Given the description of an element on the screen output the (x, y) to click on. 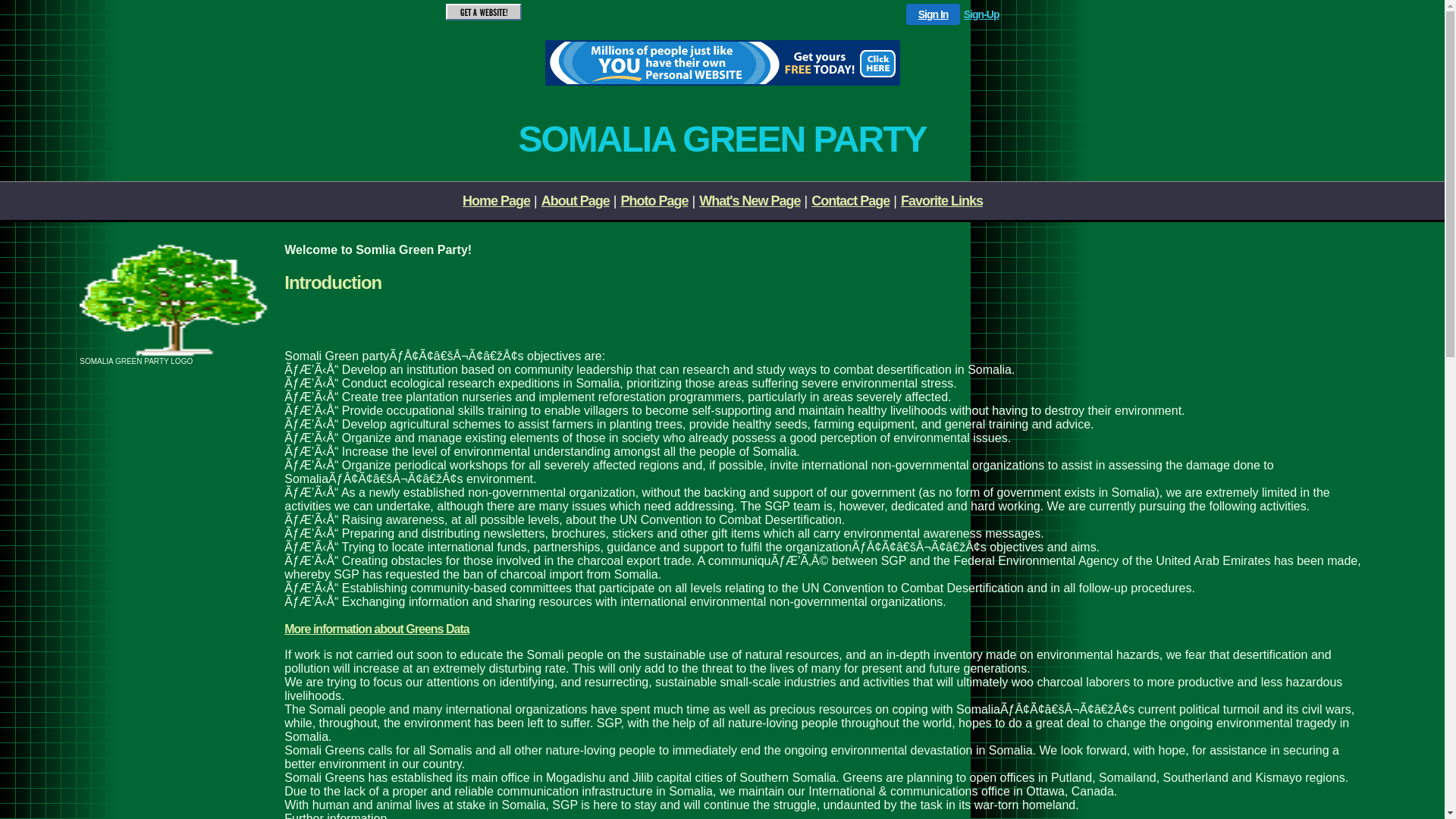
Home Page Element type: text (496, 199)
Sign-Up Element type: text (981, 14)
What's New Page Element type: text (749, 199)
Contact Page Element type: text (850, 199)
Favorite Links Element type: text (941, 199)
More information about Greens Data Element type: text (376, 628)
Photo Page Element type: text (653, 199)
Introduction Element type: text (332, 282)
About Page Element type: text (575, 199)
Sign In Element type: text (933, 14)
